Given the description of an element on the screen output the (x, y) to click on. 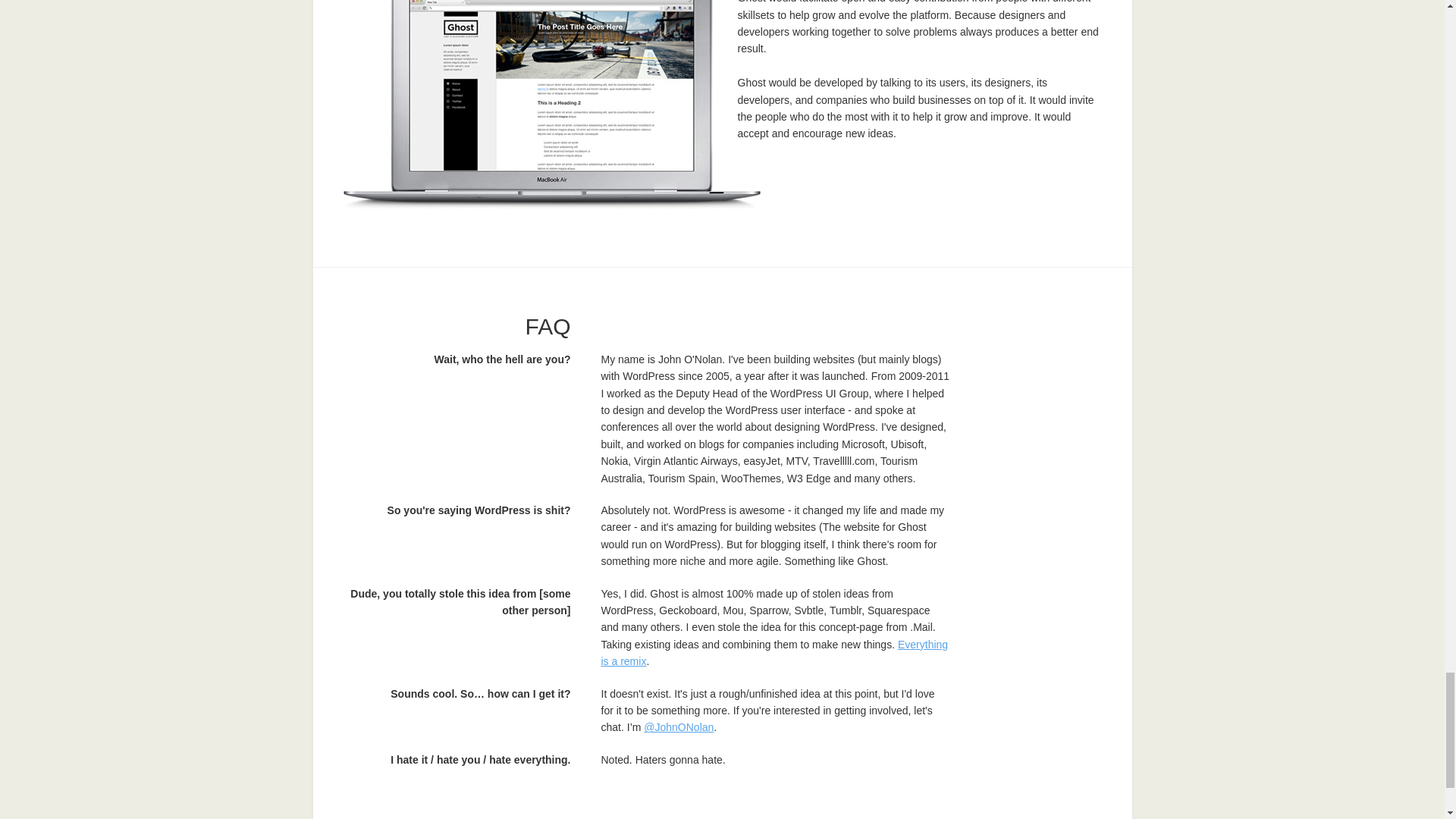
Everything is a remix (773, 652)
